Given the description of an element on the screen output the (x, y) to click on. 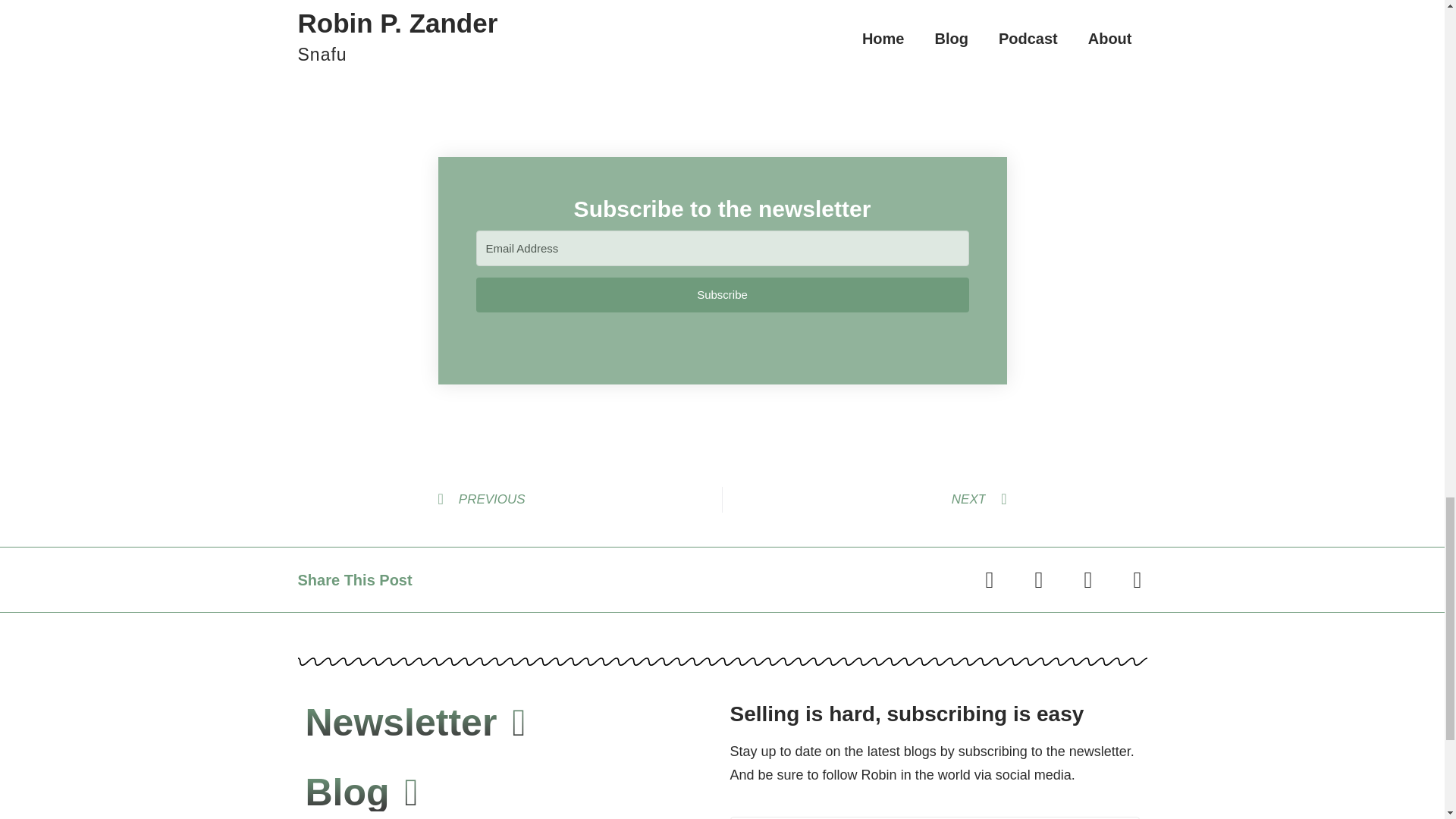
Sunny Bates: How To Build A World Class Network (521, 8)
Blog (360, 792)
PREVIOUS (580, 499)
BJ Fogg, PhD on Persuasive Technology and Behavior Change (705, 8)
NEXT (864, 499)
Subscribe (722, 294)
Newsletter (414, 722)
Sunny Bates: How To Build A World Class Network (521, 8)
BJ Fogg, PhD on Persuasive Technology and Behavior Change (705, 8)
